Given the description of an element on the screen output the (x, y) to click on. 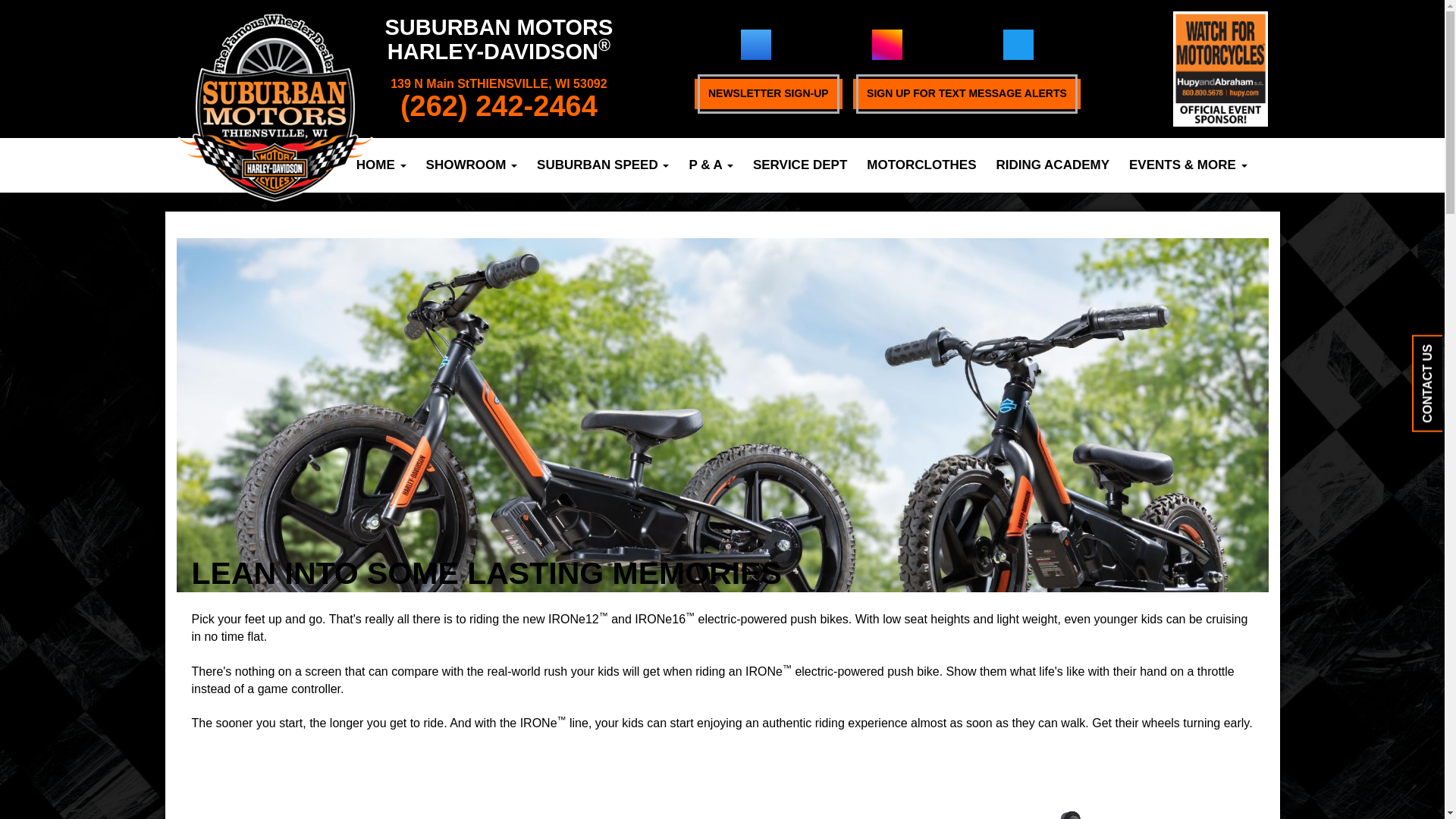
NEWSLETTER SIGN-UP (768, 93)
Showroom (471, 164)
139 N Main StTHIENSVILLE, WI 53092 (498, 83)
SUBURBAN SPEED (602, 164)
Follow us on Instagram (887, 44)
Suburban Speed (602, 164)
Follow us on Twitter (1018, 44)
SHOWROOM (471, 164)
Home (381, 164)
SIGN UP FOR TEXT MESSAGE ALERTS (966, 93)
